Given the description of an element on the screen output the (x, y) to click on. 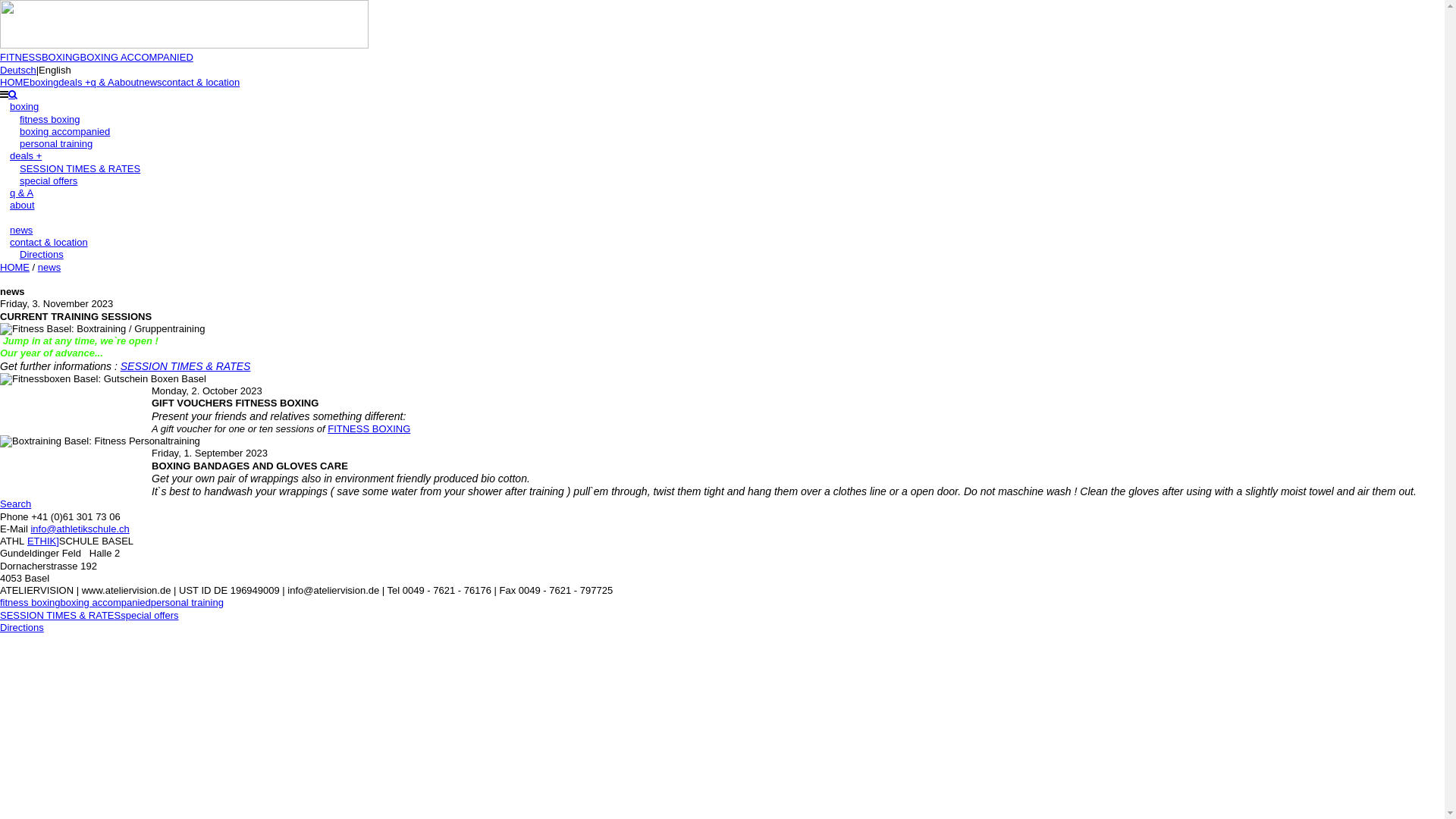
news Element type: text (149, 81)
special offers Element type: text (38, 180)
Deutsch Element type: text (18, 69)
HOME Element type: text (14, 266)
news Element type: text (48, 266)
Directions Element type: text (21, 627)
HOME Element type: text (14, 81)
contact & location Element type: text (43, 241)
news Element type: text (16, 229)
SESSION TIMES & RATES Element type: text (185, 365)
English Element type: text (54, 69)
about Element type: text (126, 81)
boxing accompanied Element type: text (105, 602)
SESSION TIMES & RATES Element type: text (70, 167)
Fitnessboxen Basel: Gutschein Boxen Basel Element type: hover (103, 379)
personal training Element type: text (186, 602)
deals + Element type: text (20, 155)
fitness boxing Element type: text (30, 602)
contact & location Element type: text (201, 81)
[ETHIK] Element type: text (41, 540)
FITNESS BOXING Element type: text (368, 428)
Fitness Basel: Boxtraining / Gruppentraining Element type: hover (102, 329)
SESSION TIMES & RATES Element type: text (60, 615)
personal training Element type: text (46, 143)
Search Element type: text (15, 503)
deals + Element type: text (74, 81)
q & A Element type: text (102, 81)
boxing Element type: text (43, 81)
special offers Element type: text (149, 615)
Boxtraining Basel: Fitness Personaltraining Element type: hover (100, 441)
BOXING Element type: text (60, 56)
about Element type: text (17, 204)
fitness boxing Element type: text (40, 119)
info@athletikschule.ch Element type: text (79, 528)
boxing Element type: text (19, 106)
Directions Element type: text (31, 254)
BOXING ACCOMPANIED Element type: text (135, 56)
FITNESS Element type: text (20, 56)
q & A Element type: text (16, 192)
boxing accompanied Element type: text (54, 131)
